Given the description of an element on the screen output the (x, y) to click on. 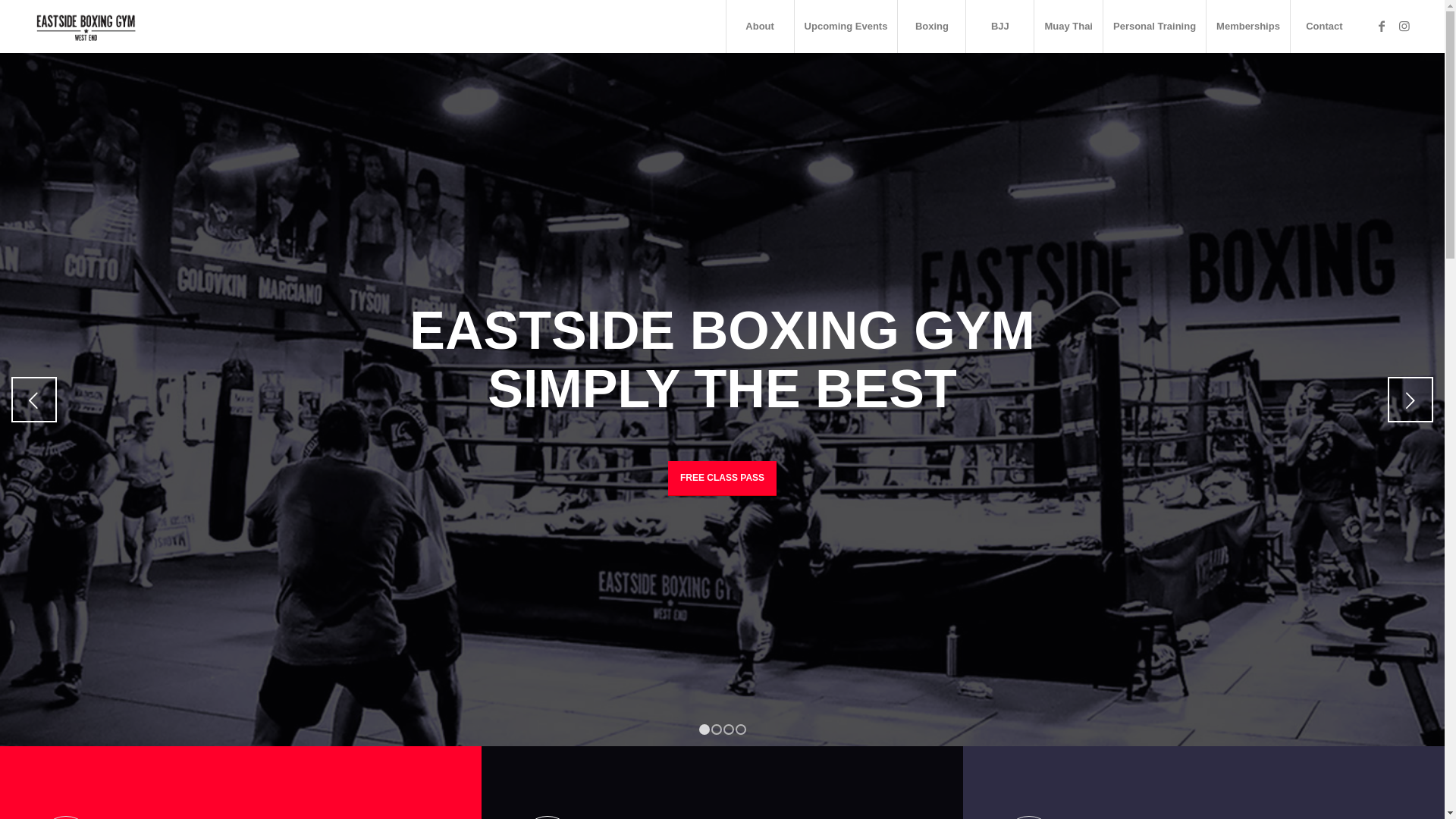
Previous Element type: text (33, 399)
Boxing Element type: text (931, 26)
BJJ Element type: text (999, 26)
Upcoming Events Element type: text (845, 26)
2 Element type: text (716, 729)
Memberships Element type: text (1247, 26)
Next Element type: text (1410, 399)
Contact Element type: text (1323, 26)
About Element type: text (759, 26)
Eastside-Boxing-Ring-01 Element type: hover (722, 399)
FREE CLASS PASS Element type: text (722, 478)
Instagram Element type: hover (1404, 25)
Personal Training Element type: text (1153, 26)
Muay Thai Element type: text (1067, 26)
4 Element type: text (740, 729)
1 Element type: text (704, 729)
Facebook Element type: hover (1381, 25)
3 Element type: text (728, 729)
